Given the description of an element on the screen output the (x, y) to click on. 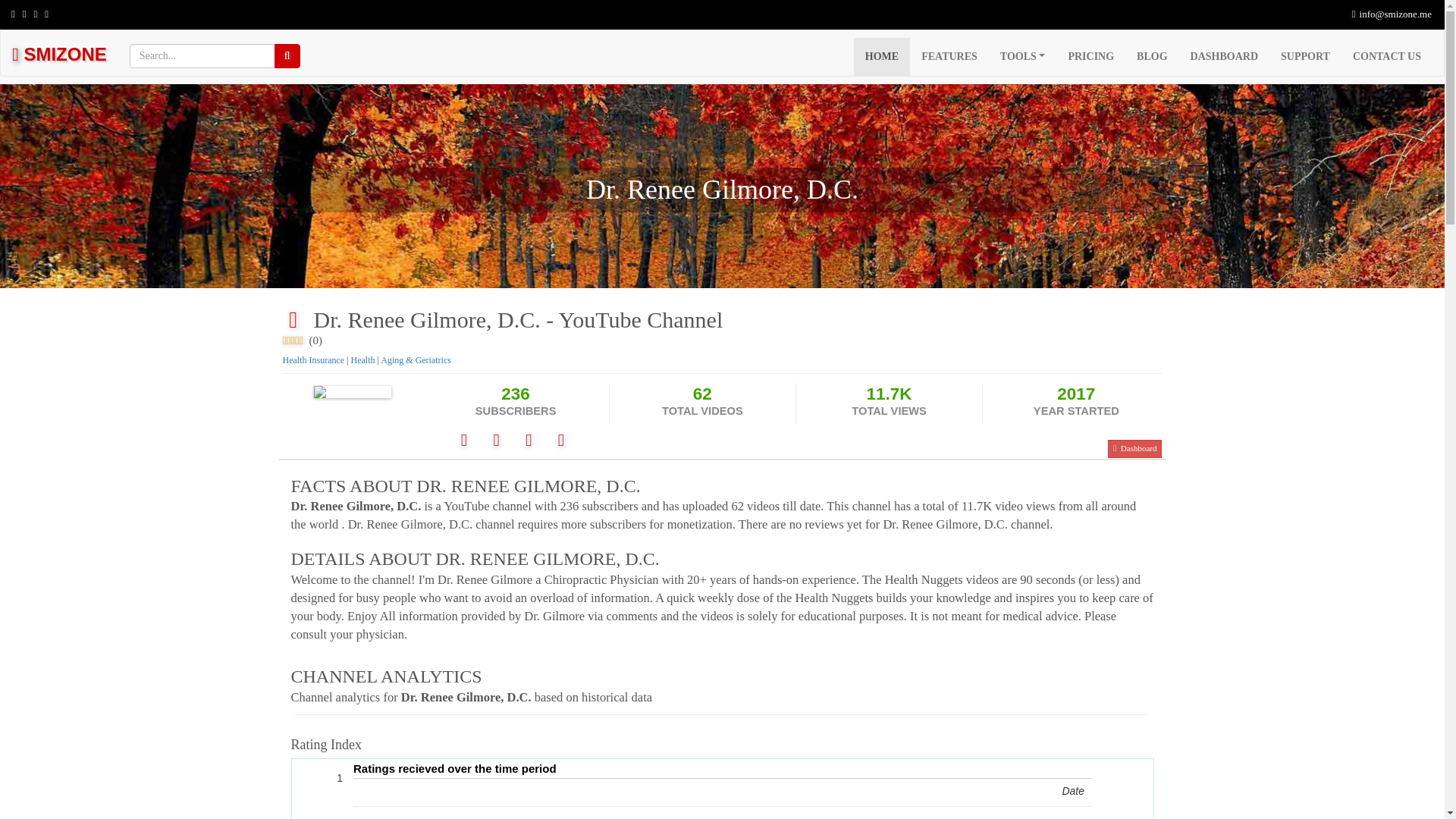
TOOLS (1022, 56)
 Dashboard (1134, 448)
FEATURES (949, 56)
Contact channel owner (561, 442)
CONTACT US (1386, 56)
Health (362, 359)
View channel reviews (497, 442)
DASHBOARD (1224, 56)
Visit channel (464, 442)
View channel analytics (530, 442)
Health Insurance (312, 359)
SUPPORT (1304, 56)
HOME (881, 56)
 SMIZONE (59, 53)
